Given the description of an element on the screen output the (x, y) to click on. 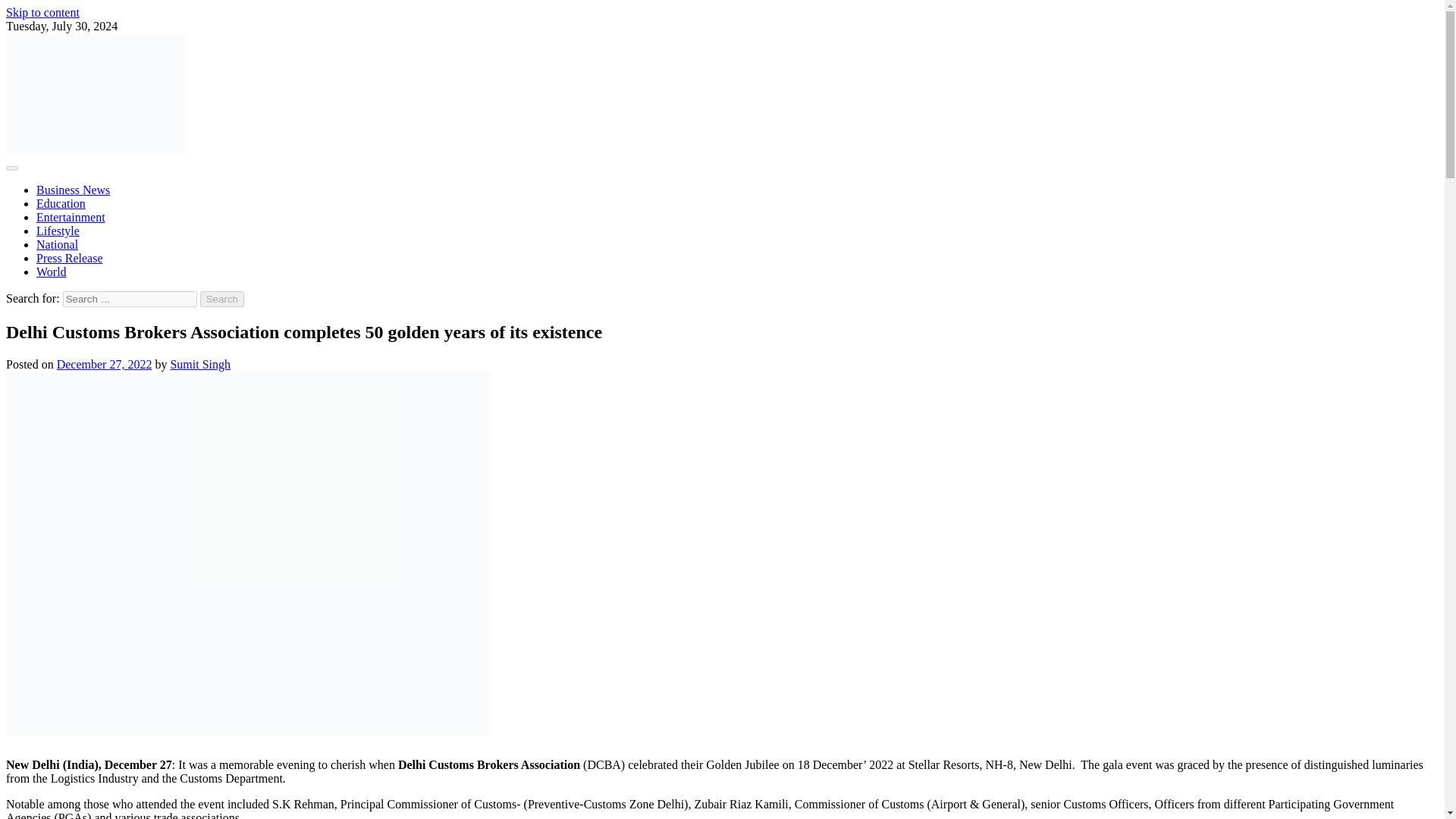
Search (222, 299)
Business News (73, 189)
December 27, 2022 (104, 364)
Press Release (69, 257)
National (57, 244)
Lifestyle (58, 230)
Sumit Singh (200, 364)
Search (222, 299)
Entertainment (70, 216)
World (51, 271)
Skip to content (42, 11)
Education (60, 203)
Search (222, 299)
